Given the description of an element on the screen output the (x, y) to click on. 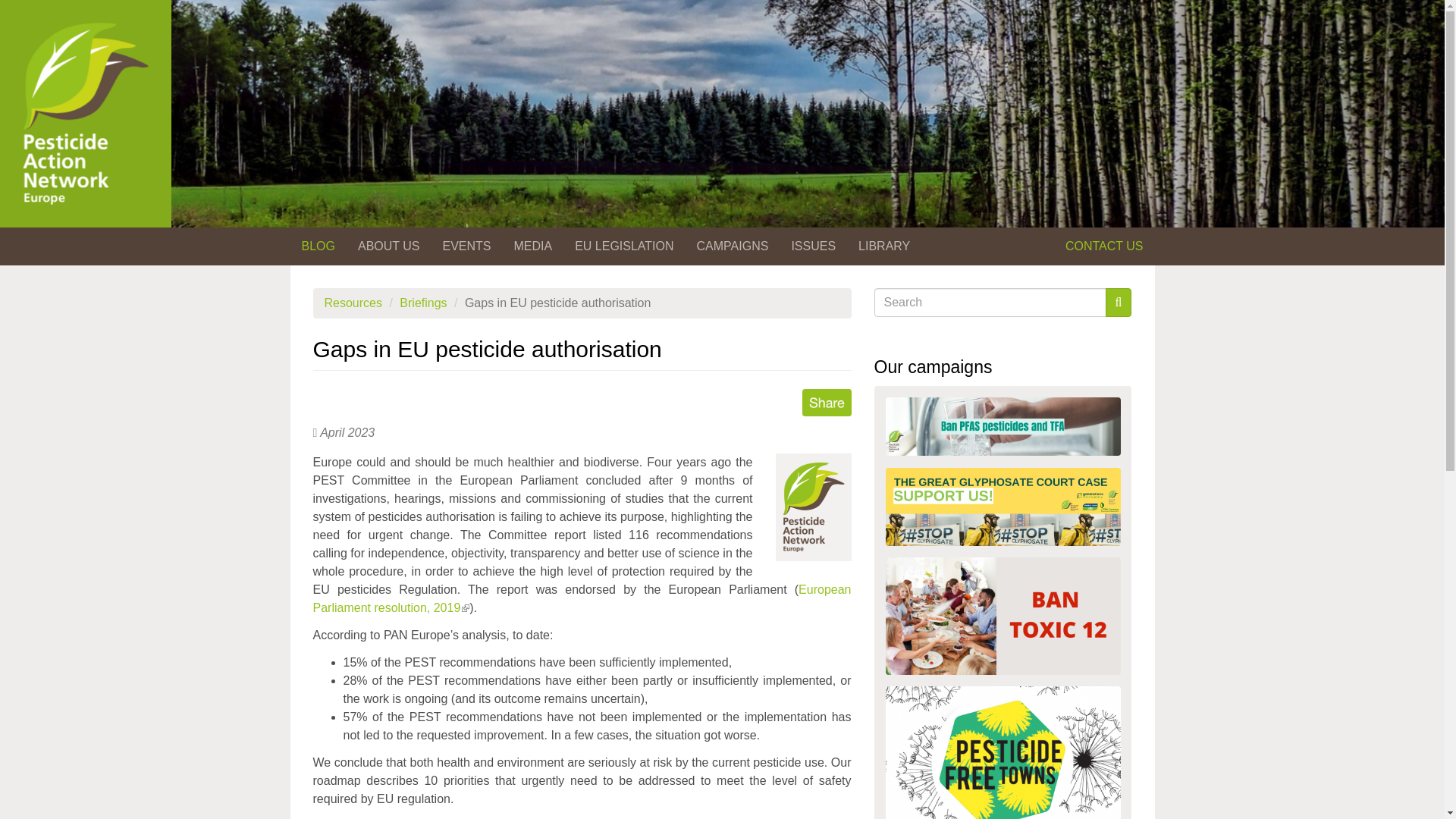
BLOG (317, 246)
MEDIA (532, 246)
ABOUT US (388, 246)
EVENTS (466, 246)
